Given the description of an element on the screen output the (x, y) to click on. 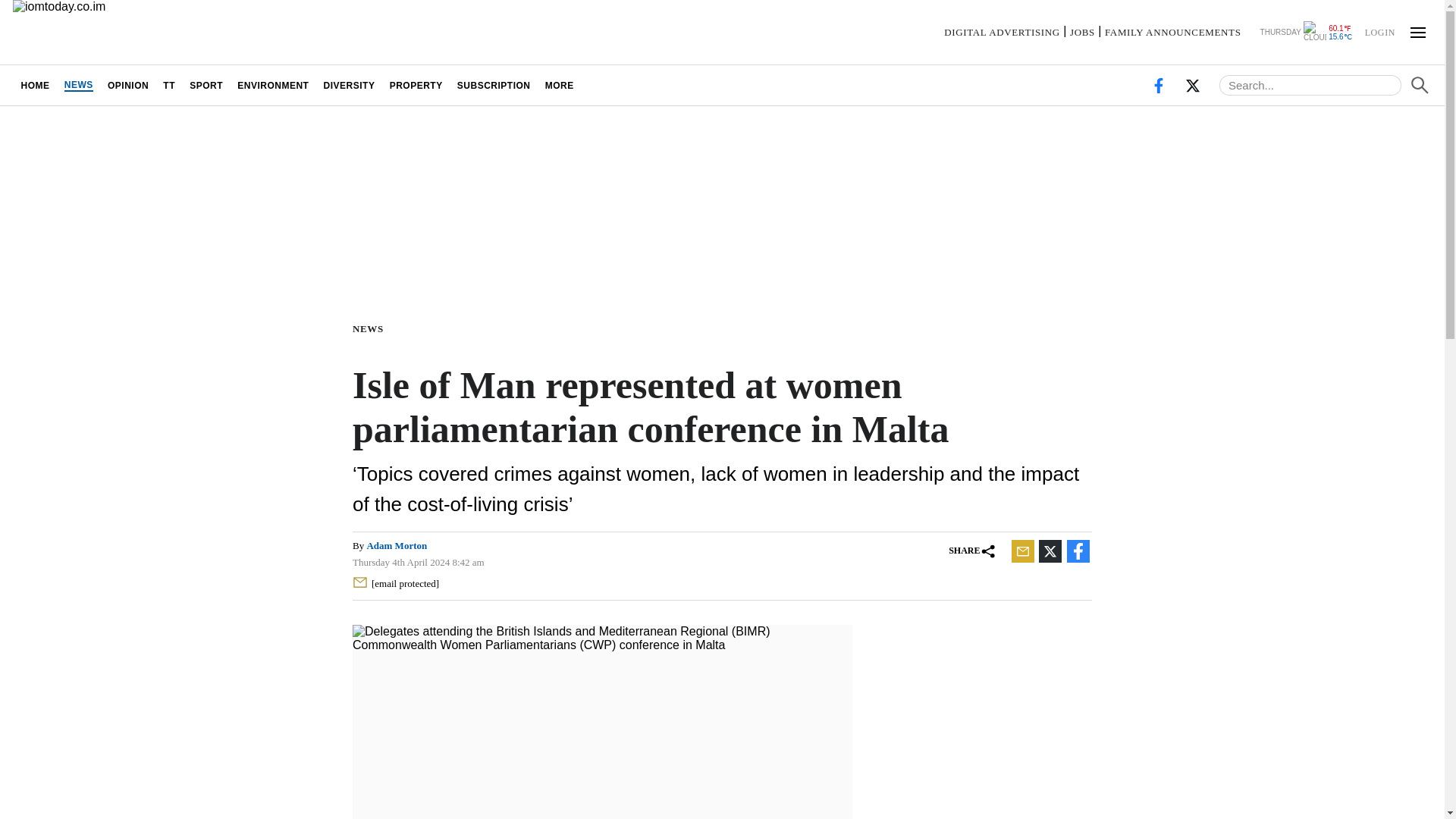
SUBSCRIPTION (493, 85)
SPORT (206, 85)
ENVIRONMENT (272, 85)
PROPERTY (415, 85)
OPINION (127, 85)
NEWS (78, 85)
TT (169, 85)
LOGIN (1379, 31)
FAMILY ANNOUNCEMENTS (1173, 32)
NEWS (371, 328)
HOME (34, 85)
MORE (558, 85)
DIVERSITY (348, 85)
Adam Morton (396, 545)
